Given the description of an element on the screen output the (x, y) to click on. 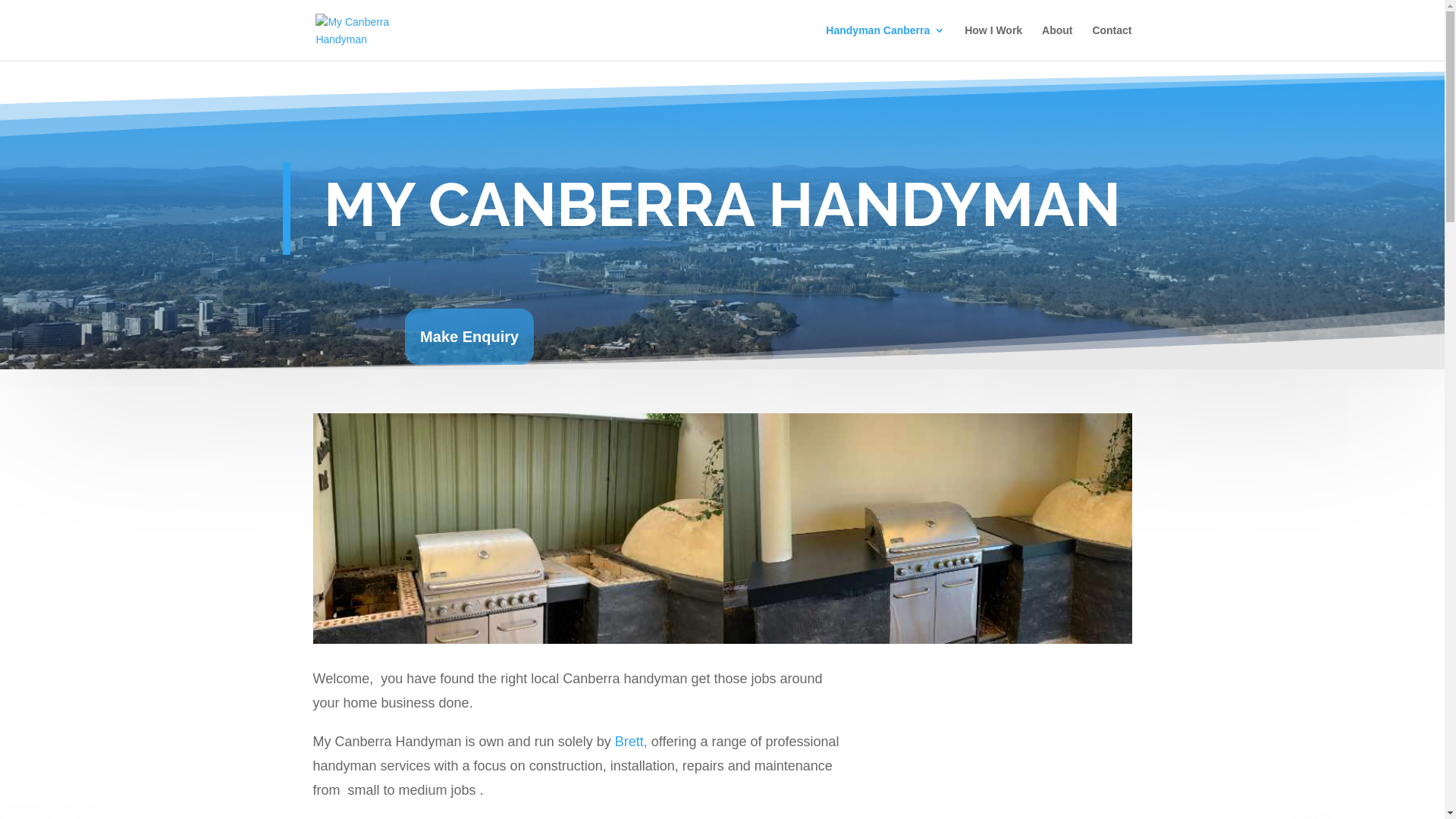
How I Work Element type: text (993, 42)
Handyman Canberra Element type: text (884, 42)
Make Enquiry Element type: text (468, 336)
About Element type: text (1056, 42)
Brett, Element type: text (631, 741)
Contact Element type: text (1111, 42)
